Given the description of an element on the screen output the (x, y) to click on. 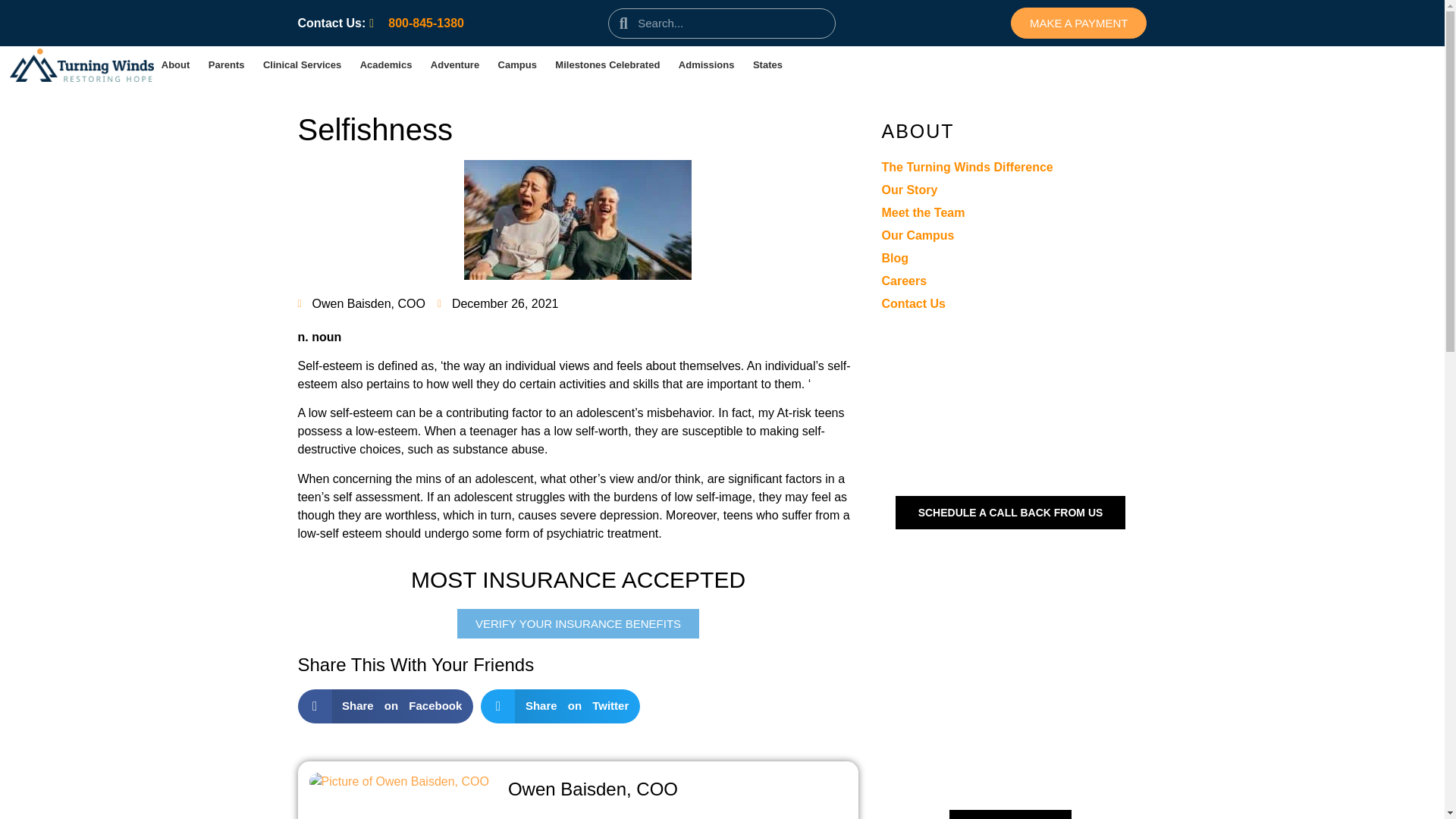
Parents (226, 64)
TW-LOGOS-MASTER (82, 64)
About (175, 64)
MAKE A PAYMENT (1078, 22)
800-845-1380 (416, 22)
